Given the description of an element on the screen output the (x, y) to click on. 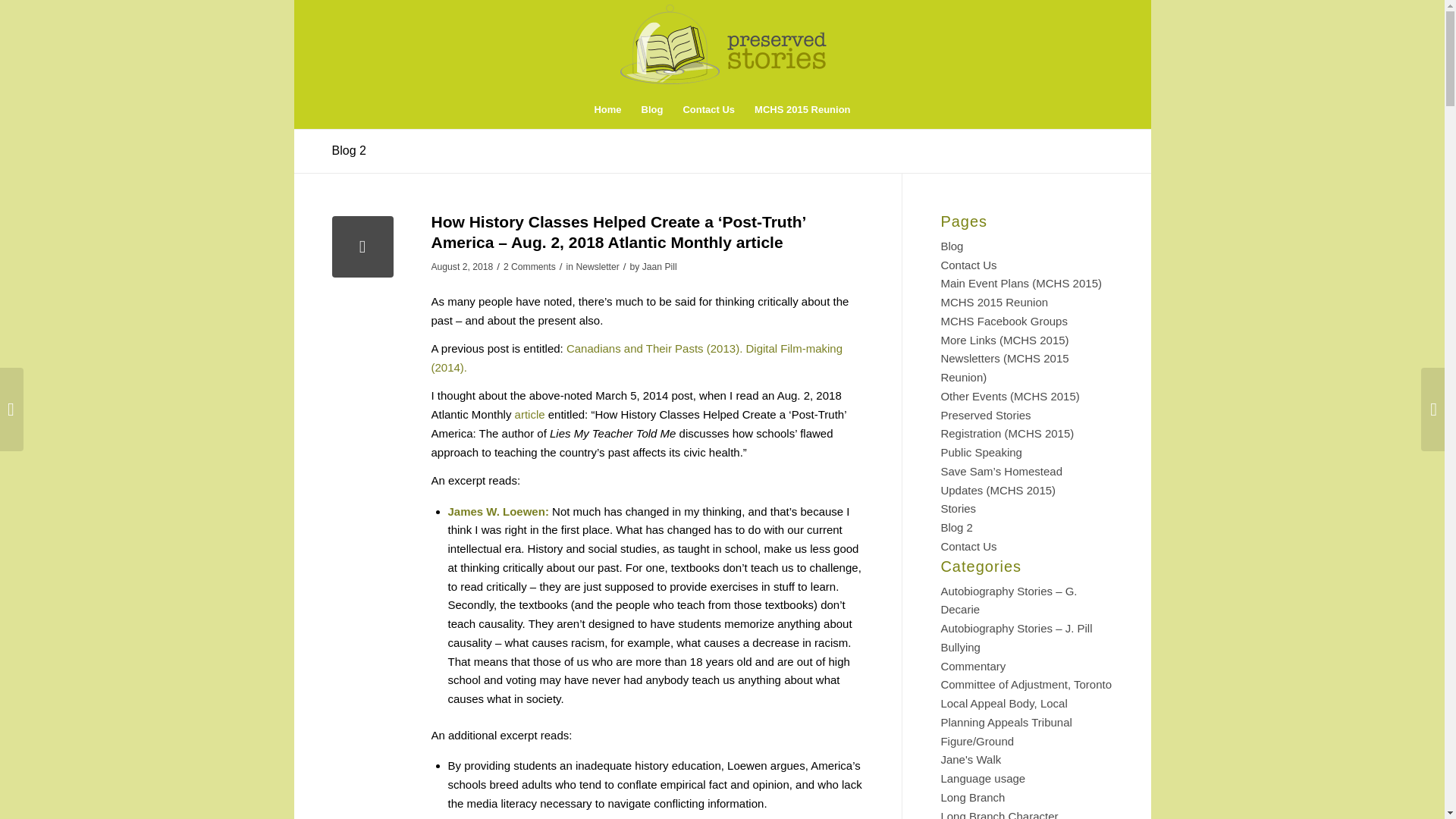
Jaan Pill (659, 266)
article (529, 413)
Posts by Jaan Pill (659, 266)
Newsletter (596, 266)
Preserved-Stories-logo-horizontal (722, 42)
Permanent Link: Blog 2 (348, 150)
Contact Us (708, 109)
2 Comments (529, 266)
Home (606, 109)
